Given the description of an element on the screen output the (x, y) to click on. 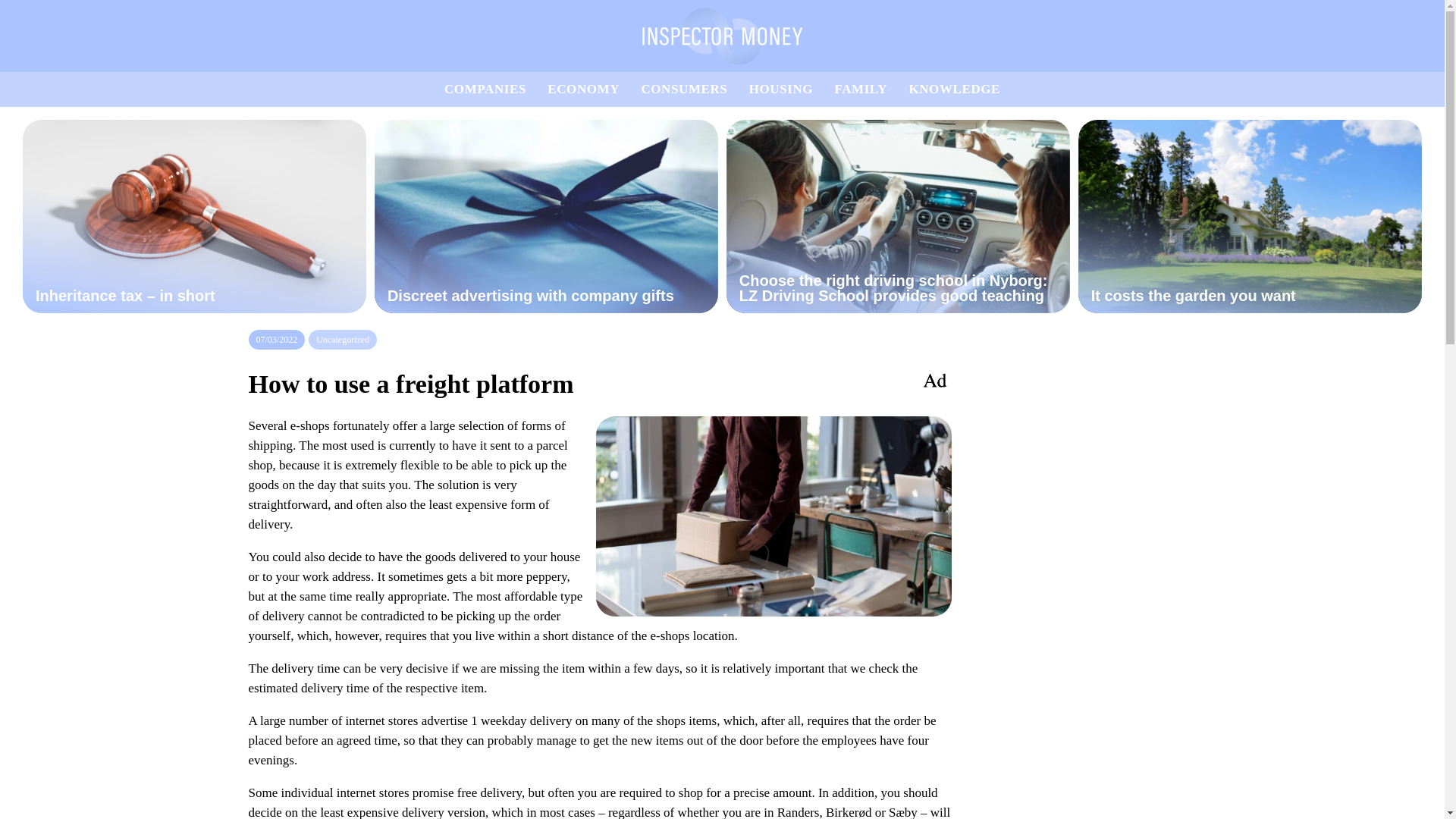
KNOWLEDGE (954, 88)
It costs the garden you want (1250, 215)
CONSUMERS (683, 88)
ECONOMY (583, 88)
COMPANIES (484, 88)
HOUSING (781, 88)
FAMILY (860, 88)
Discreet advertising with company gifts (545, 215)
